Given the description of an element on the screen output the (x, y) to click on. 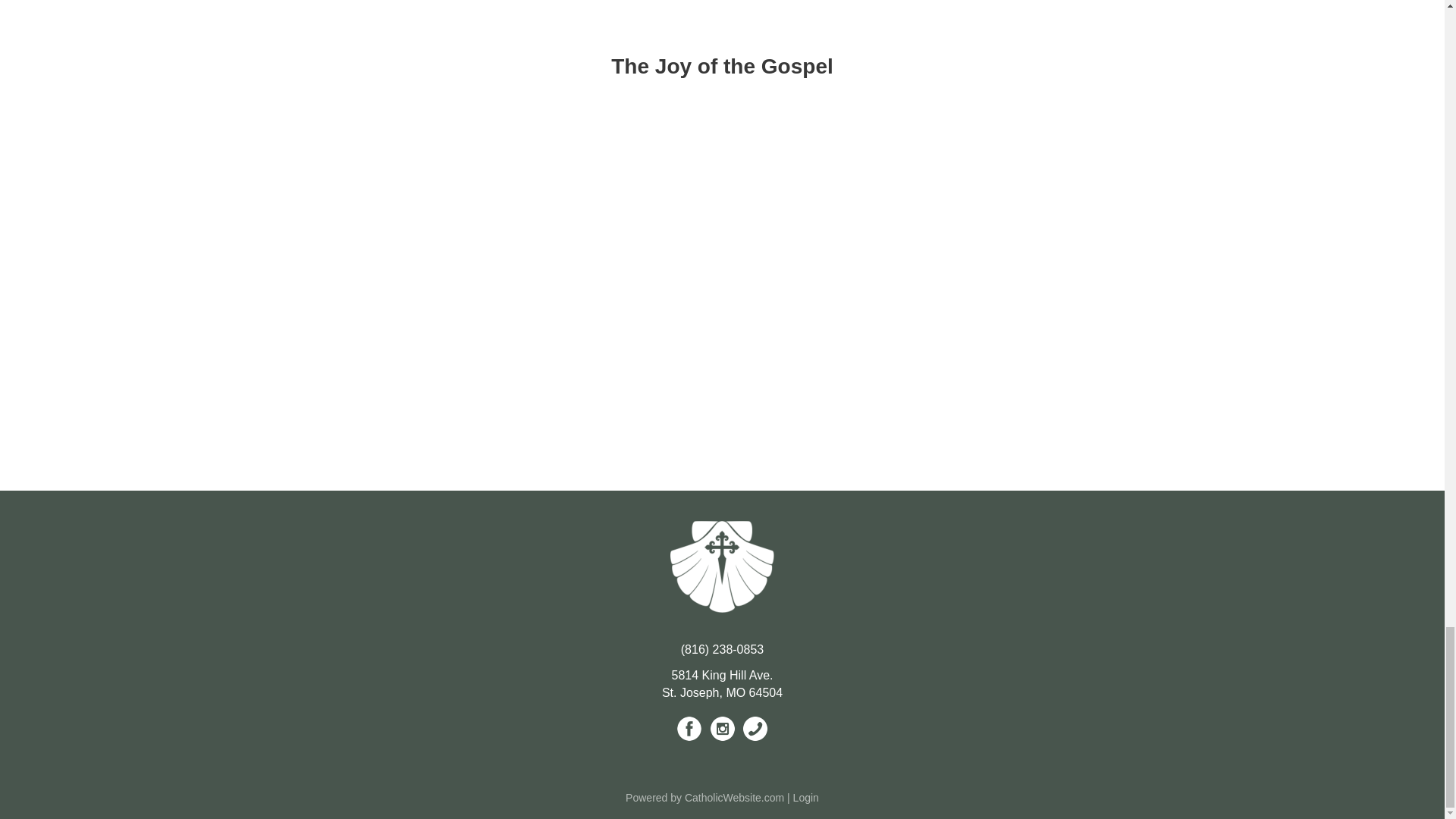
Instagram (721, 728)
Facebook (689, 728)
Contact (754, 728)
